Given the description of an element on the screen output the (x, y) to click on. 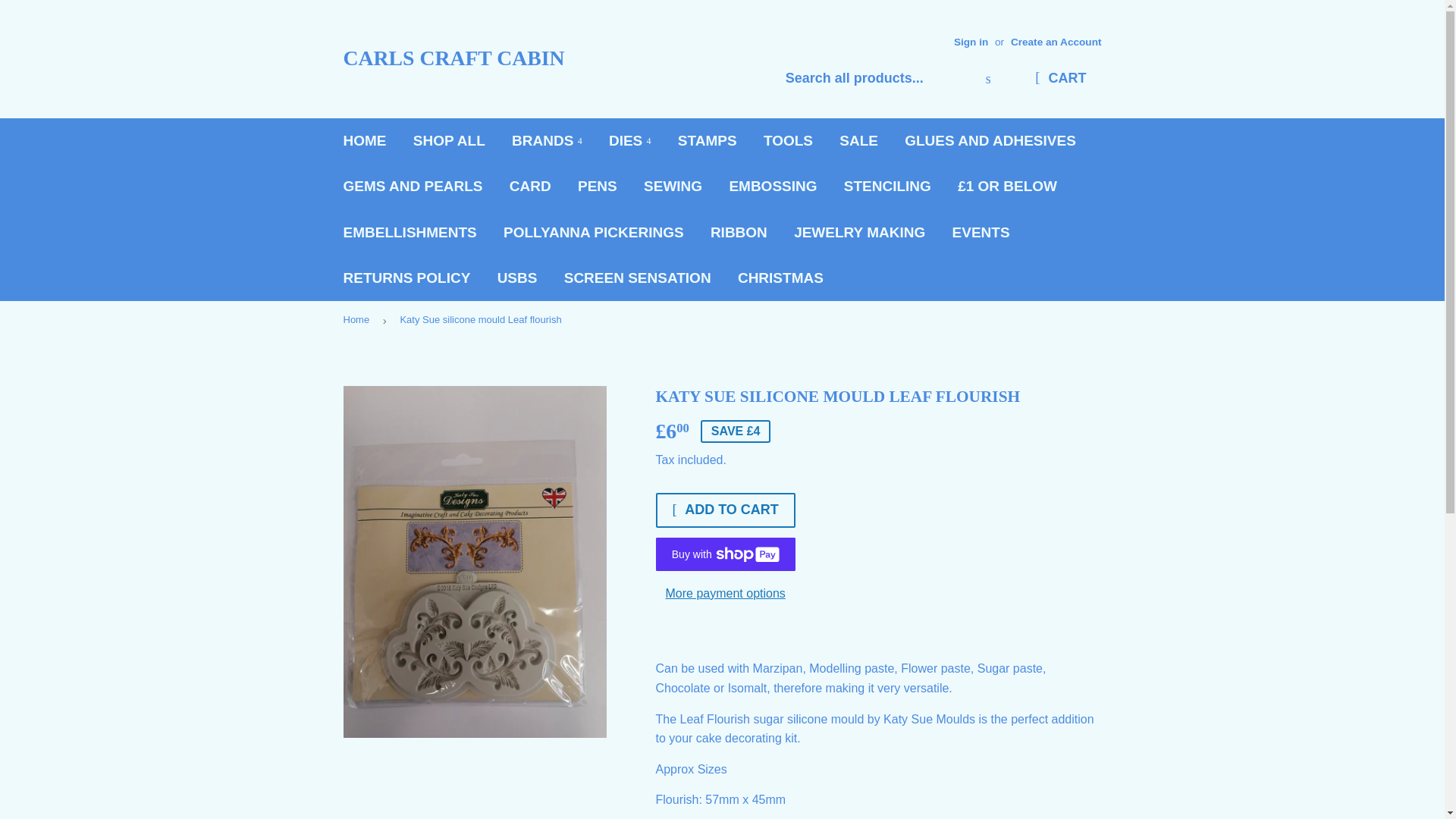
Sign in (970, 41)
Create an Account (1056, 41)
CART (1060, 78)
CARLS CRAFT CABIN (532, 58)
Search (988, 79)
